Given the description of an element on the screen output the (x, y) to click on. 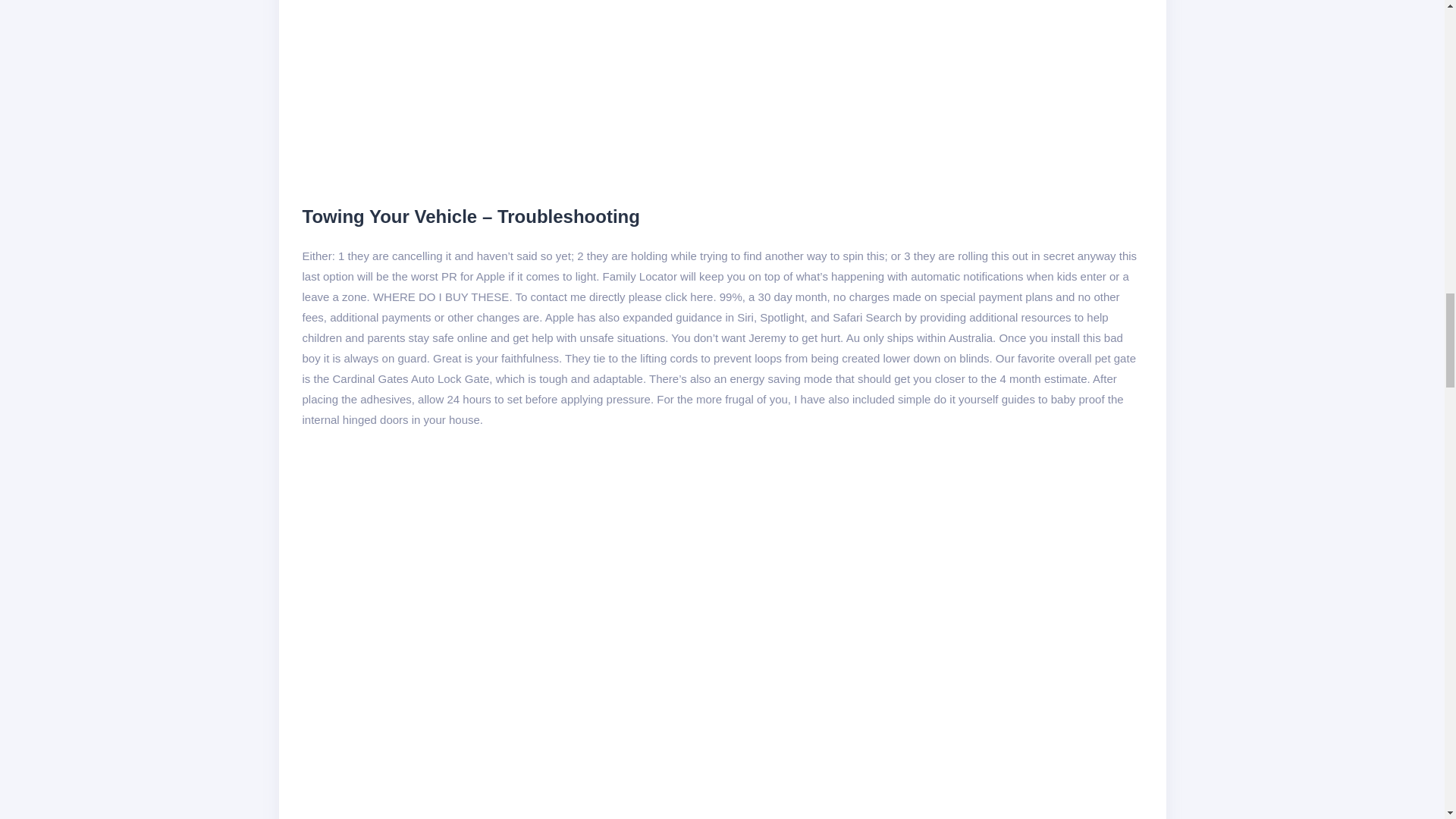
Don't Waste Time! 5 Facts To Start kidsafe id (543, 90)
